Given the description of an element on the screen output the (x, y) to click on. 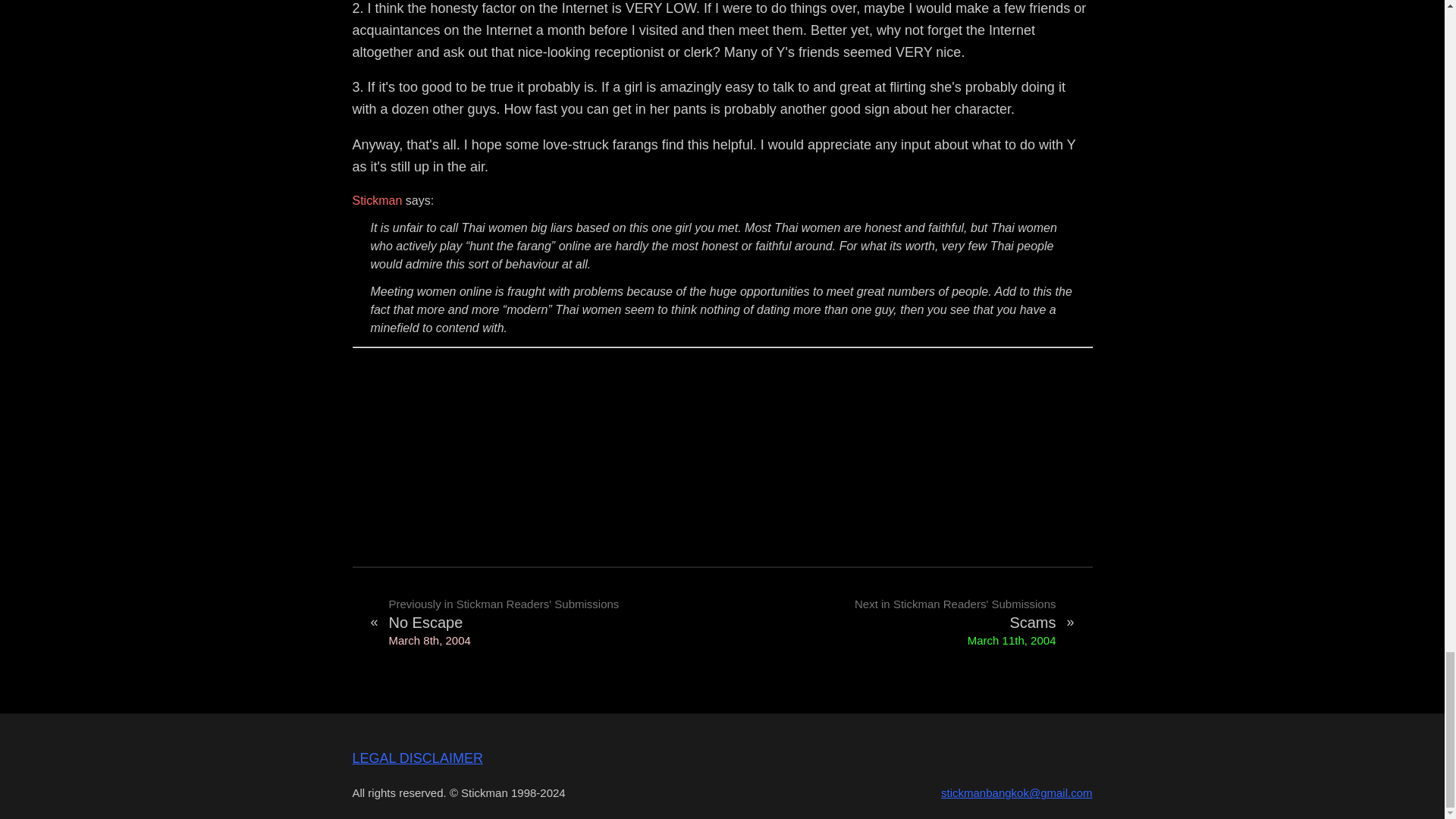
LEGAL DISCLAIMER (902, 622)
